Given the description of an element on the screen output the (x, y) to click on. 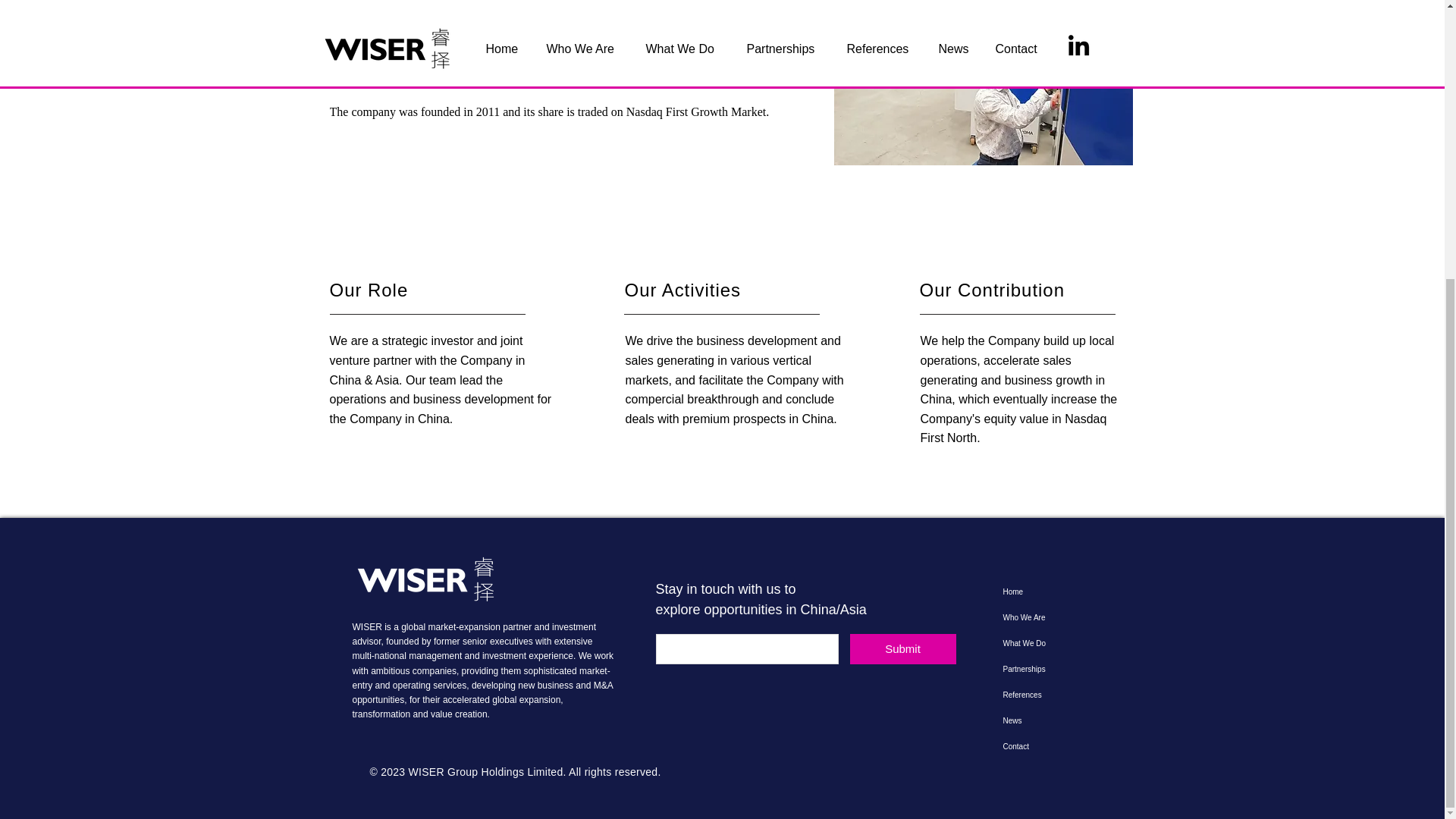
Contact (1047, 746)
News (1047, 720)
Who We Are (1047, 617)
opticept.jpeg (983, 82)
Submit (901, 648)
Partnerships (1047, 669)
Home (1047, 592)
